Given the description of an element on the screen output the (x, y) to click on. 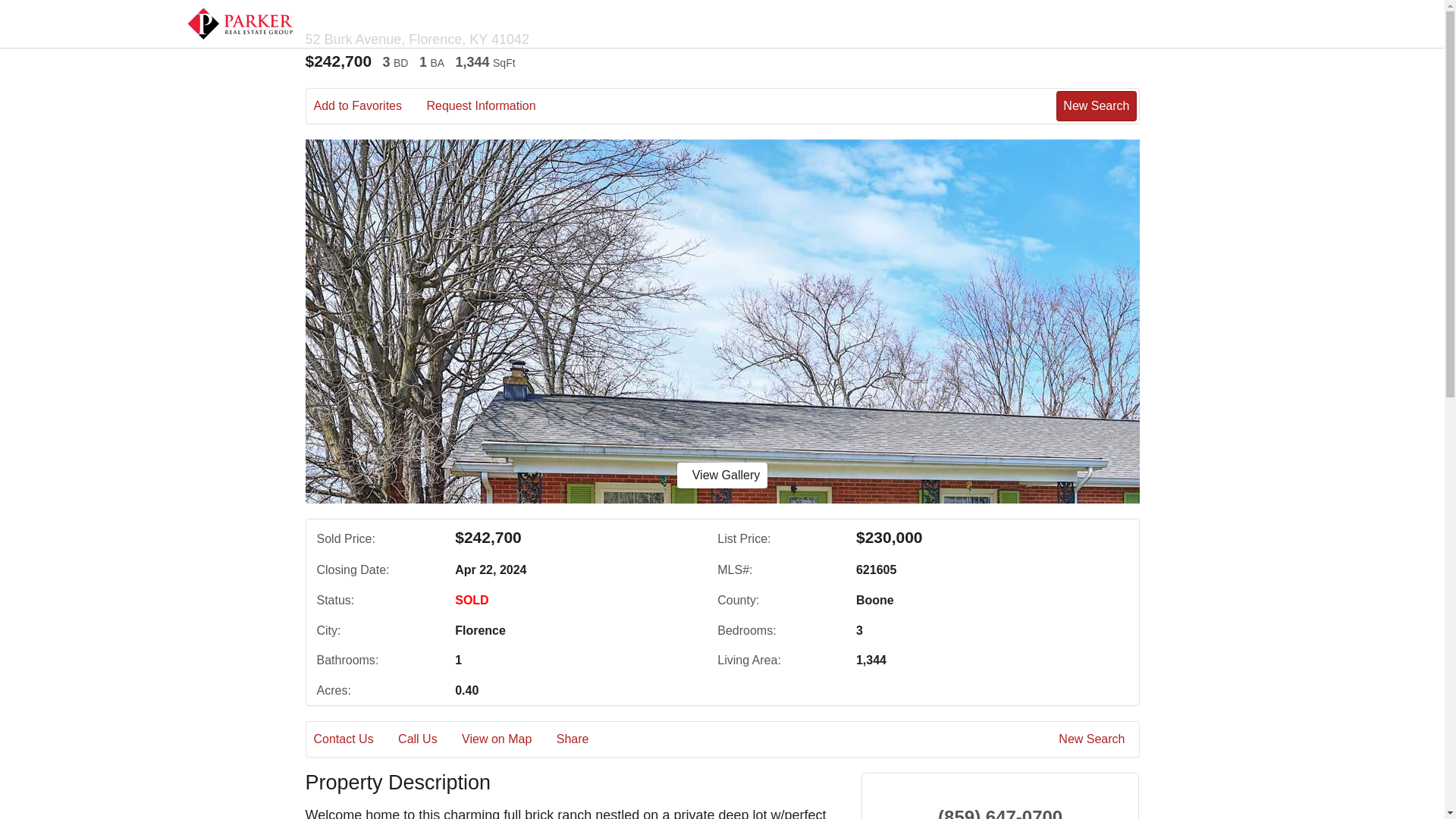
New Search (1096, 105)
Add to Favorites (368, 106)
Request Information (491, 106)
New Search (1094, 739)
Call Us (427, 739)
View Gallery (722, 474)
Share (583, 739)
View on Map (507, 739)
View Gallery (722, 475)
Contact Us (354, 739)
